Given the description of an element on the screen output the (x, y) to click on. 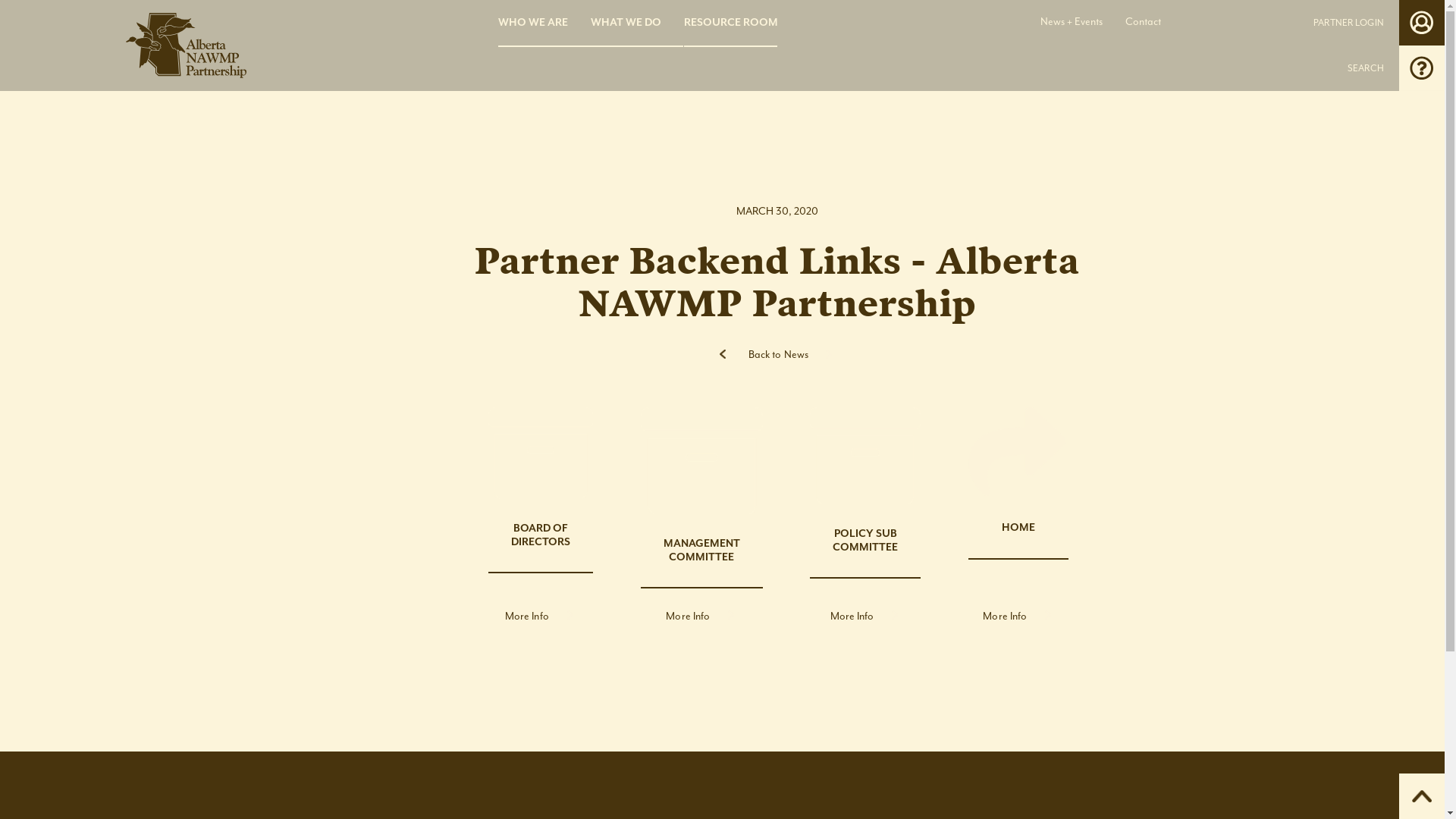
Contact Element type: text (1143, 21)
RESOURCE ROOM Element type: text (731, 22)
Back to News Element type: text (776, 354)
News + Events Element type: text (1071, 21)
PARTNER LOGIN Element type: text (1348, 22)
HOME
More Info Element type: text (1018, 514)
MANAGEMENT
COMMITTEE
More Info Element type: text (701, 514)
POLICY SUB
COMMITTEE
More Info Element type: text (864, 514)
WHO WE ARE Element type: text (544, 22)
BOARD OF
DIRECTORS
More Info Element type: text (540, 514)
WHAT WE DO Element type: text (637, 22)
